Given the description of an element on the screen output the (x, y) to click on. 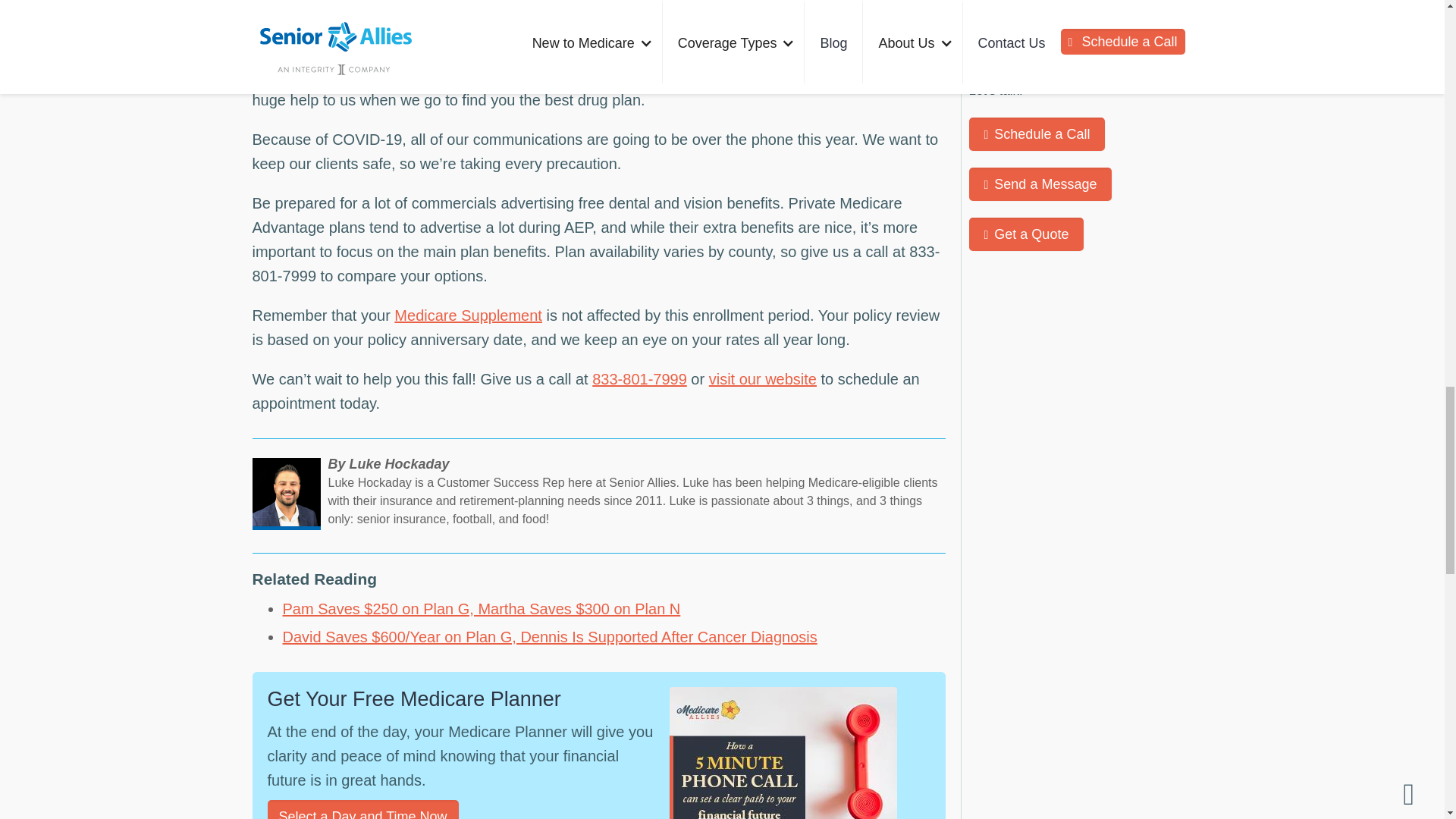
visit our website (762, 379)
Select a Day and Time Now (362, 809)
833-801-7999 (639, 379)
Medicare Supplement (467, 315)
